Given the description of an element on the screen output the (x, y) to click on. 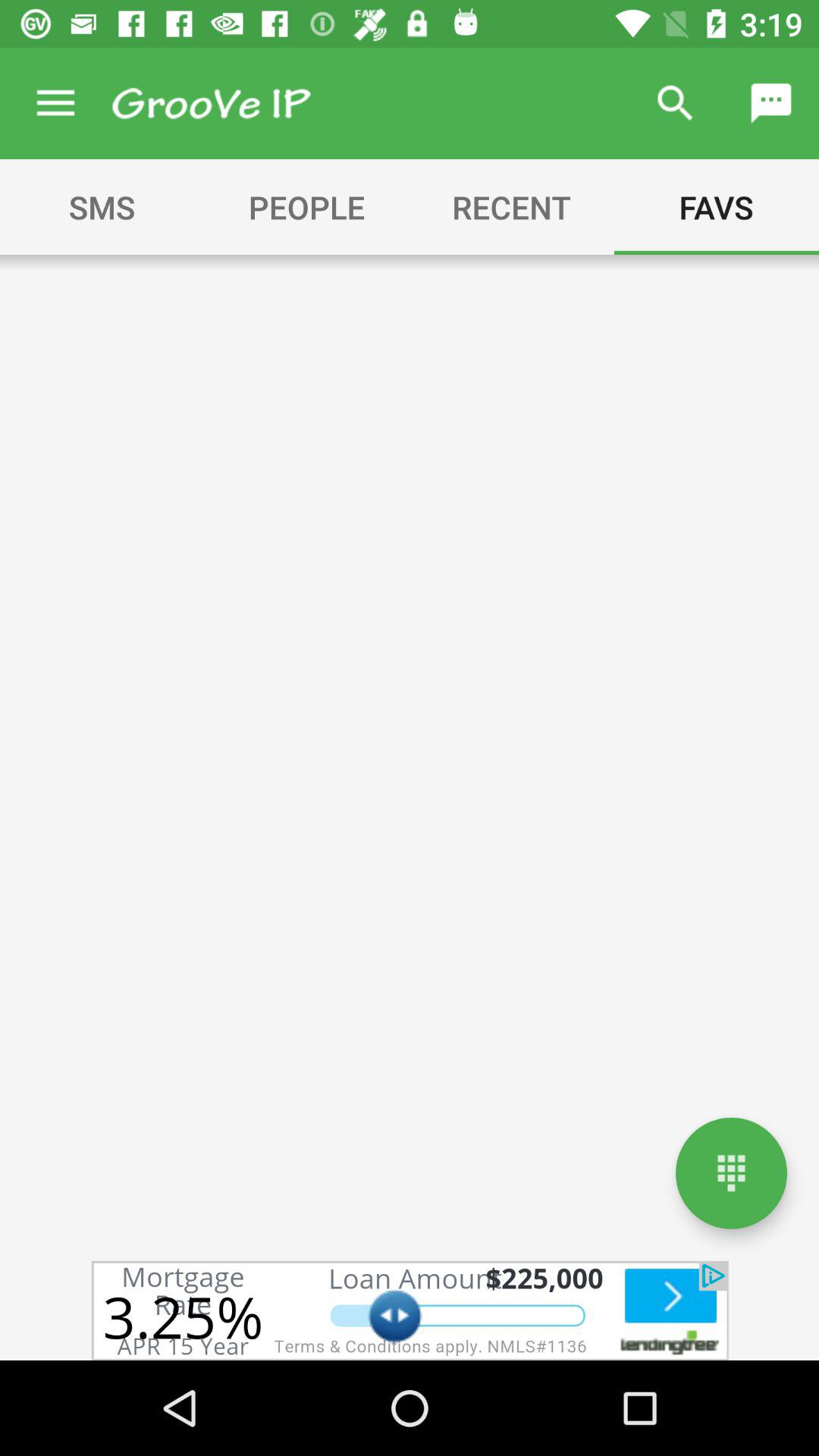
enter search text (210, 103)
